Given the description of an element on the screen output the (x, y) to click on. 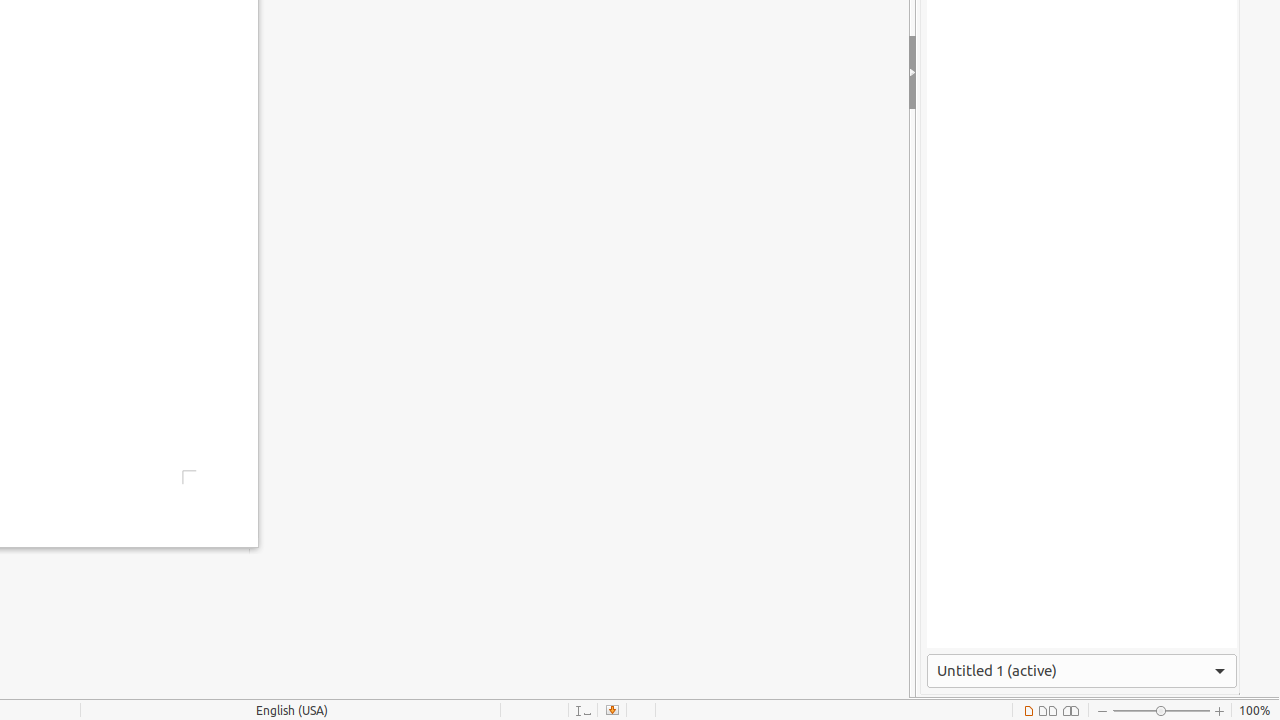
Active Window Element type: combo-box (1082, 671)
